Given the description of an element on the screen output the (x, y) to click on. 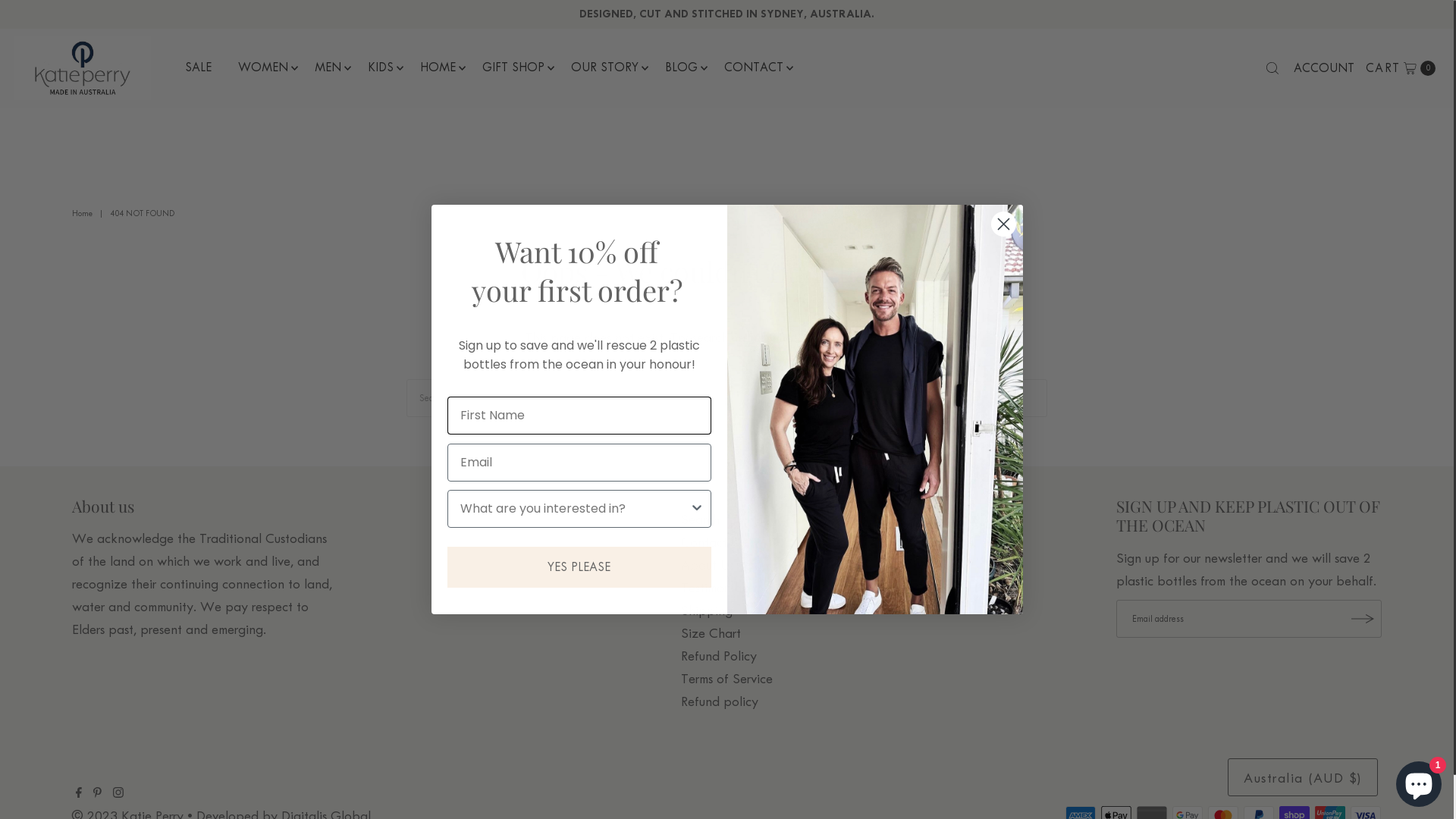
OUR STORY Element type: text (604, 67)
YES PLEASE Element type: text (579, 566)
Shopify online store chat Element type: hover (1418, 780)
Size Chart Element type: text (710, 632)
SALE Element type: text (197, 67)
CART
0 Element type: text (1400, 68)
WOMEN Element type: text (262, 67)
Testimonials Element type: text (714, 587)
GIFT SHOP Element type: text (512, 67)
Refund Policy Element type: text (718, 655)
Refund policy Element type: text (719, 701)
Close dialog 1 Element type: text (1003, 223)
About Us Element type: text (707, 564)
BLOG Element type: text (681, 67)
Contact Us Element type: text (712, 541)
Search Element type: text (699, 519)
Home Element type: text (84, 213)
ACCOUNT Element type: text (1323, 68)
CONTACT Element type: text (753, 67)
Submit Element type: text (37, 18)
Terms of Service Element type: text (726, 678)
Australia (AUD $) Element type: text (1302, 777)
HOME Element type: text (437, 67)
Shipping Element type: text (706, 610)
KIDS Element type: text (380, 67)
MEN Element type: text (327, 67)
